Given the description of an element on the screen output the (x, y) to click on. 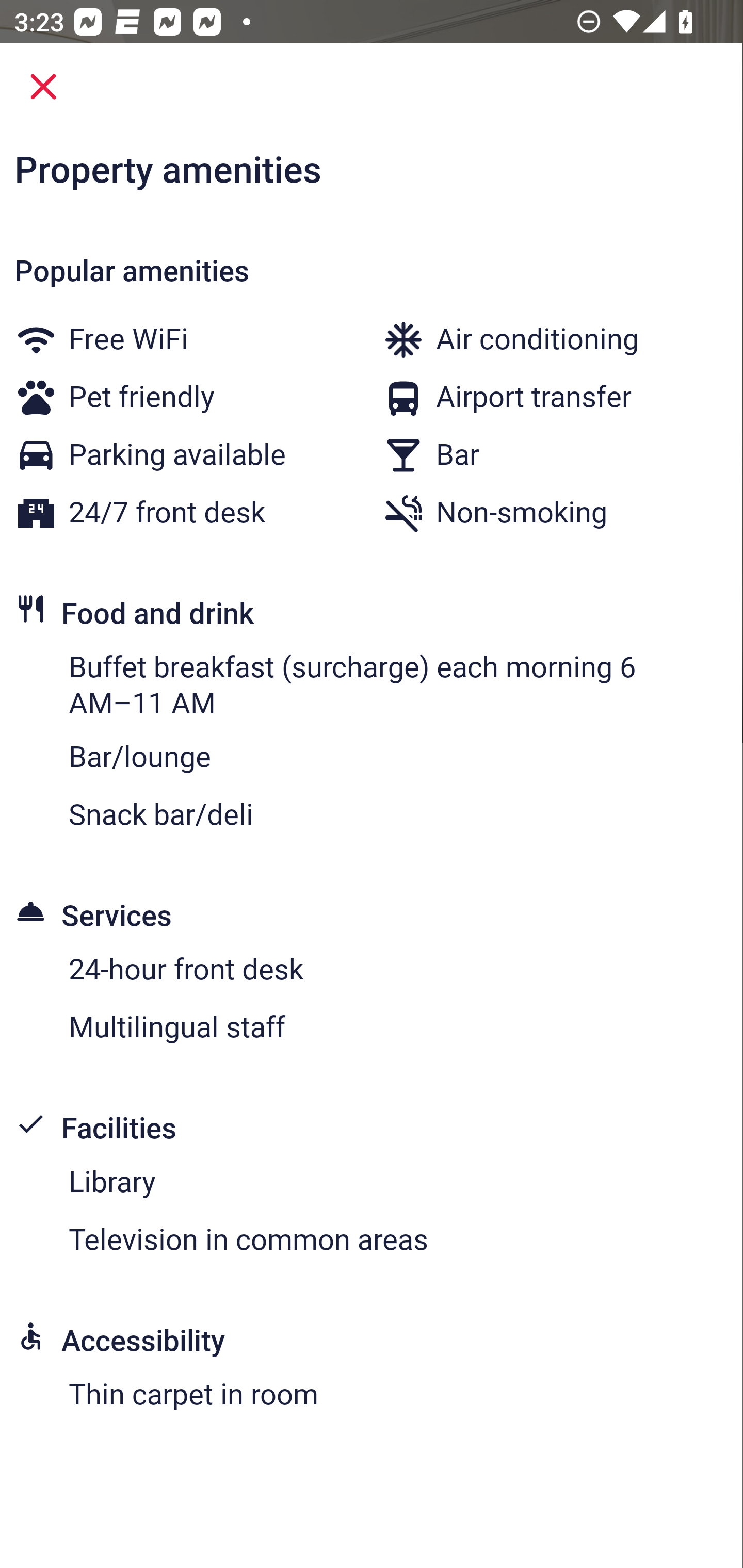
Close (43, 86)
